Given the description of an element on the screen output the (x, y) to click on. 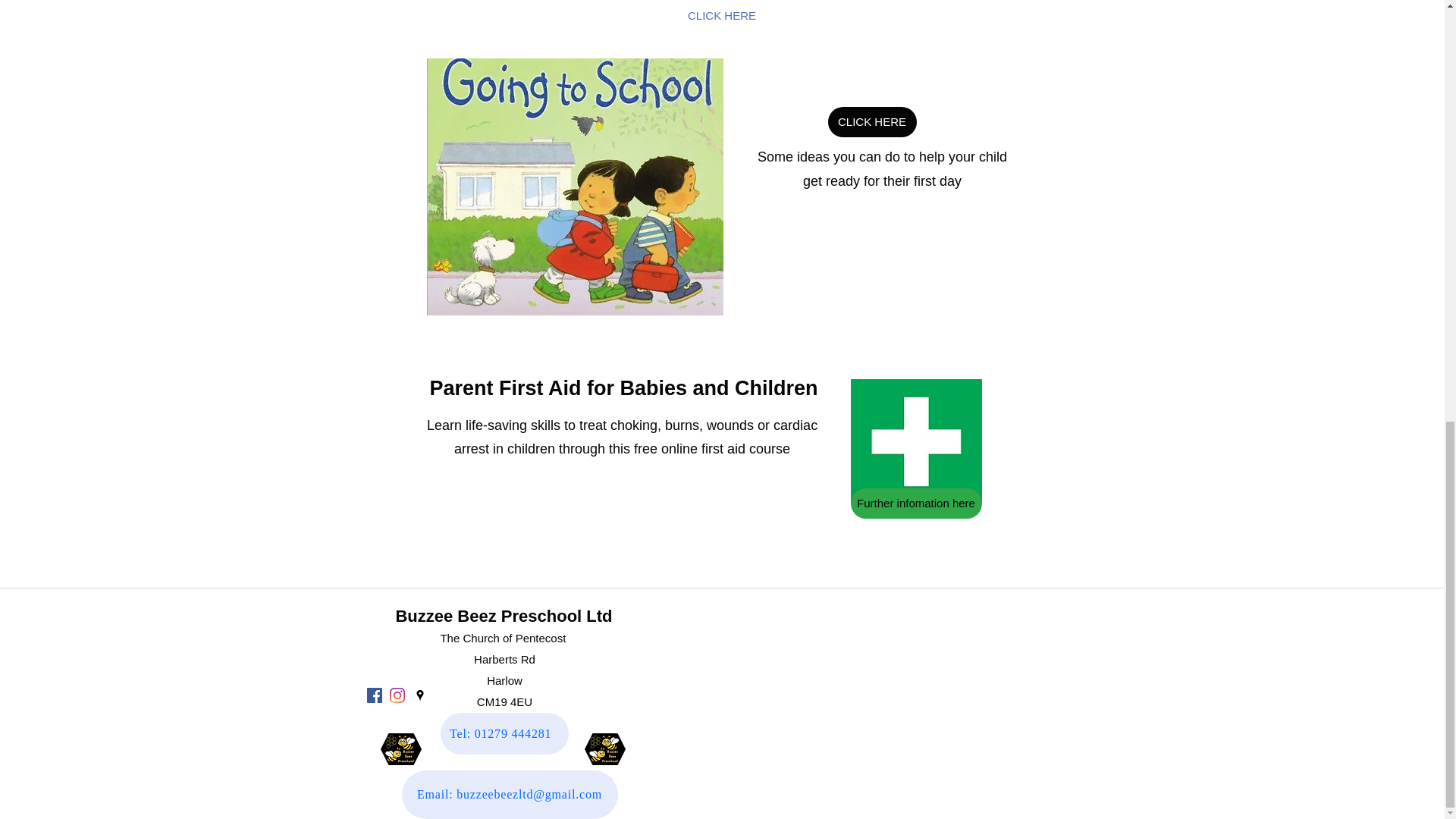
Google Maps (892, 703)
CLICK HERE (721, 17)
Further infomation here (915, 503)
Tel: 01279 444281   (503, 733)
CLICK HERE (872, 122)
